Given the description of an element on the screen output the (x, y) to click on. 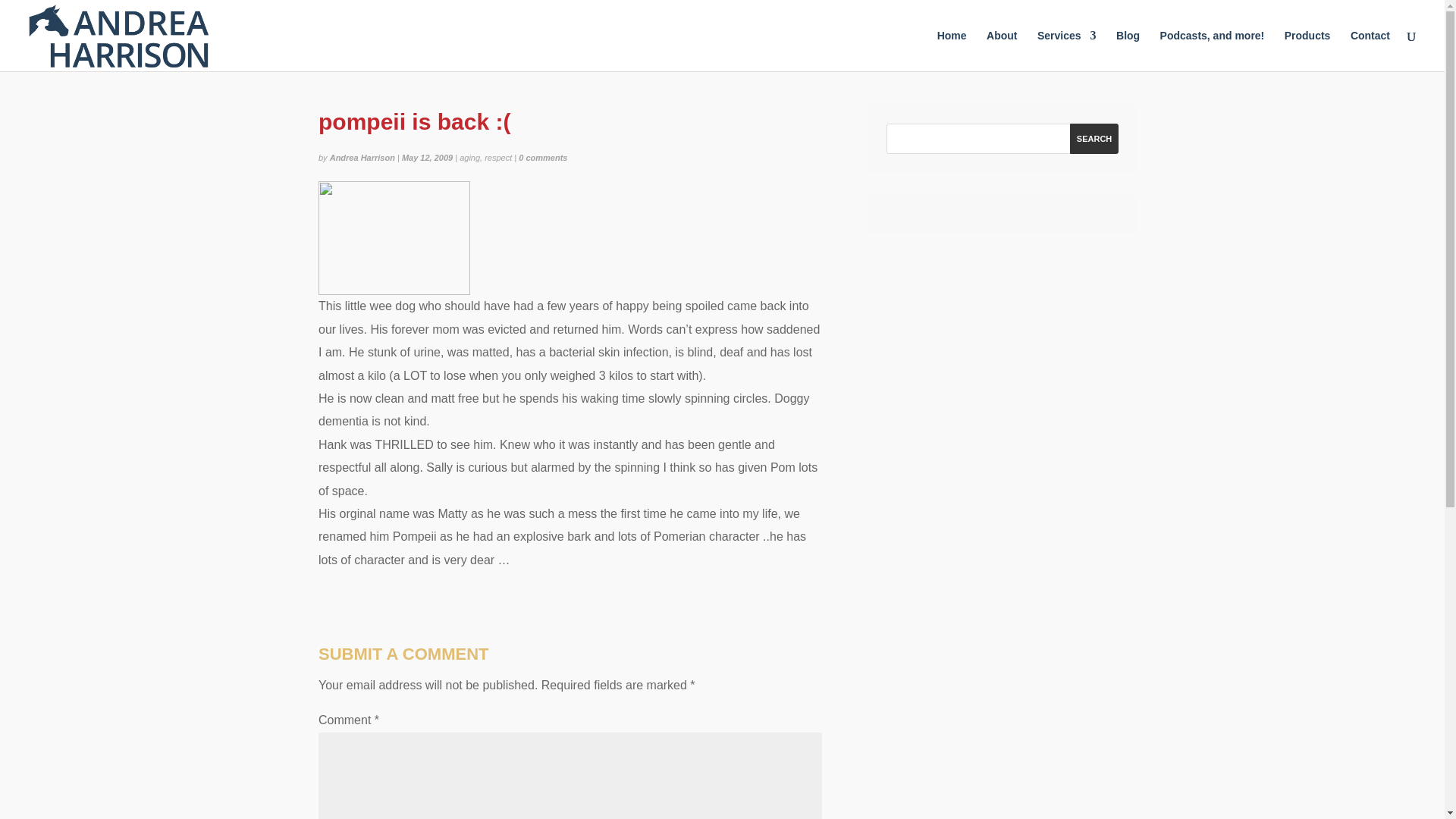
Search (1094, 138)
Andrea Harrison (362, 157)
Contact (1370, 50)
respect (498, 157)
0 comments (542, 157)
Products (1307, 50)
Posts by Andrea Harrison (362, 157)
Search (1094, 138)
Podcasts, and more! (1212, 50)
aging (470, 157)
